Given the description of an element on the screen output the (x, y) to click on. 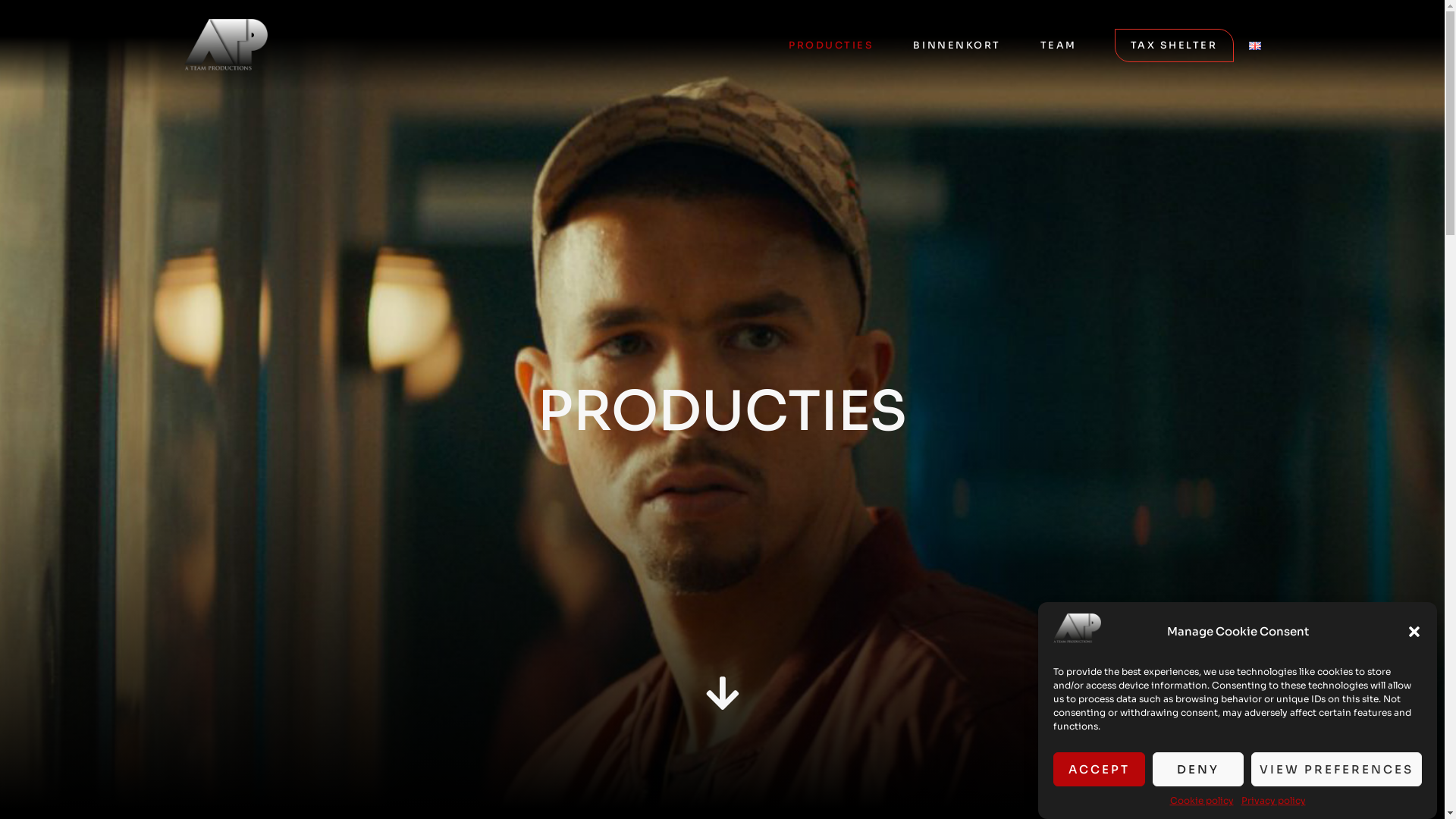
TEAM Element type: text (1058, 45)
VIEW PREFERENCES Element type: text (1336, 769)
ACCEPT Element type: text (1099, 769)
TAX SHELTER Element type: text (1173, 45)
Privacy policy Element type: text (1272, 800)
PRODUCTIES Element type: text (830, 45)
DENY Element type: text (1198, 769)
Cookie policy Element type: text (1201, 800)
BINNENKORT Element type: text (956, 45)
